Given the description of an element on the screen output the (x, y) to click on. 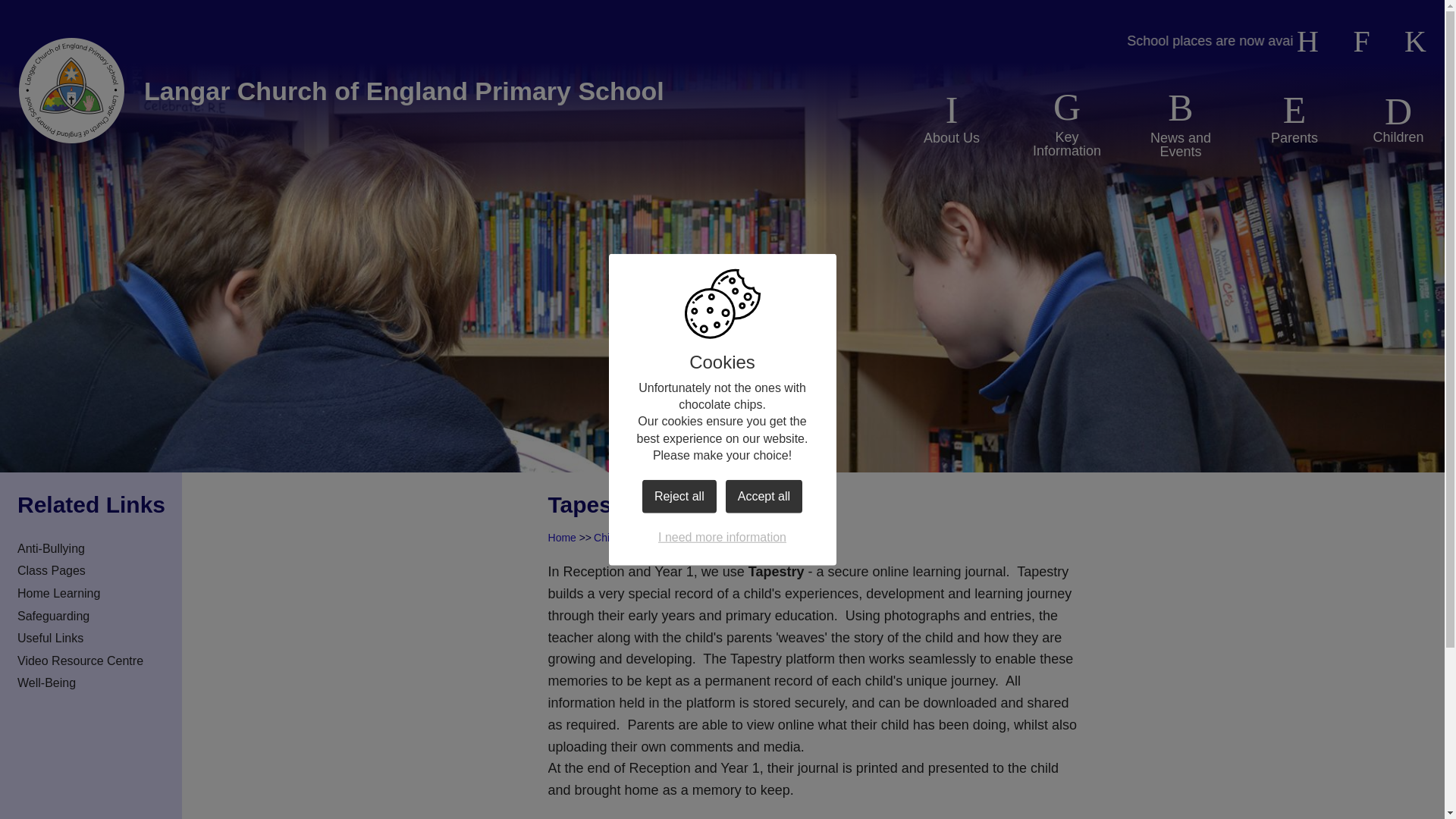
Log in (1414, 41)
Home Page (71, 90)
Home Page (71, 90)
Key Information (1067, 122)
